Given the description of an element on the screen output the (x, y) to click on. 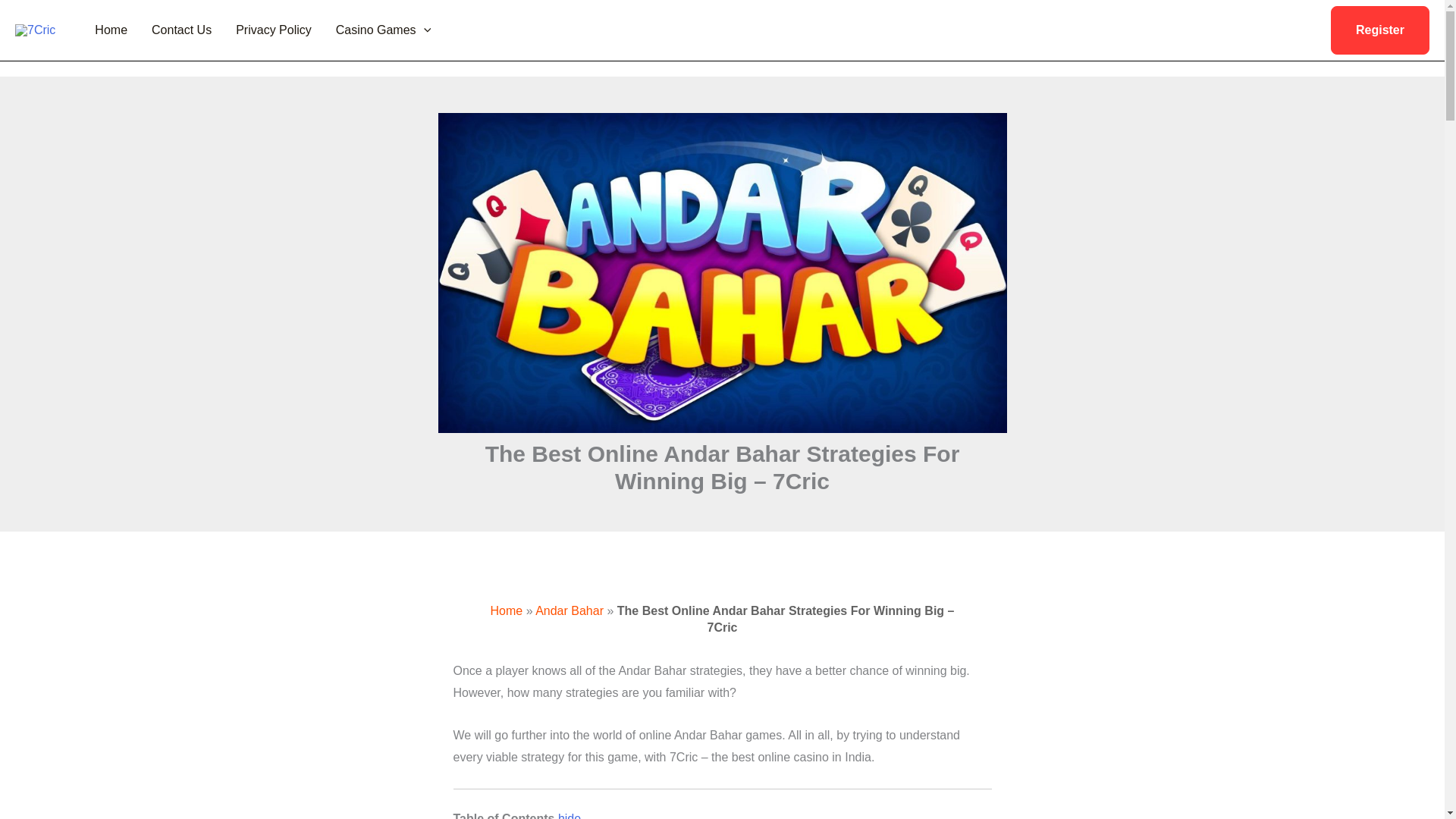
Privacy Policy (273, 30)
Andar Bahar (569, 610)
Home (506, 610)
Register (1379, 29)
Contact Us (181, 30)
Casino Games (382, 30)
Home (110, 30)
hide (568, 815)
